Given the description of an element on the screen output the (x, y) to click on. 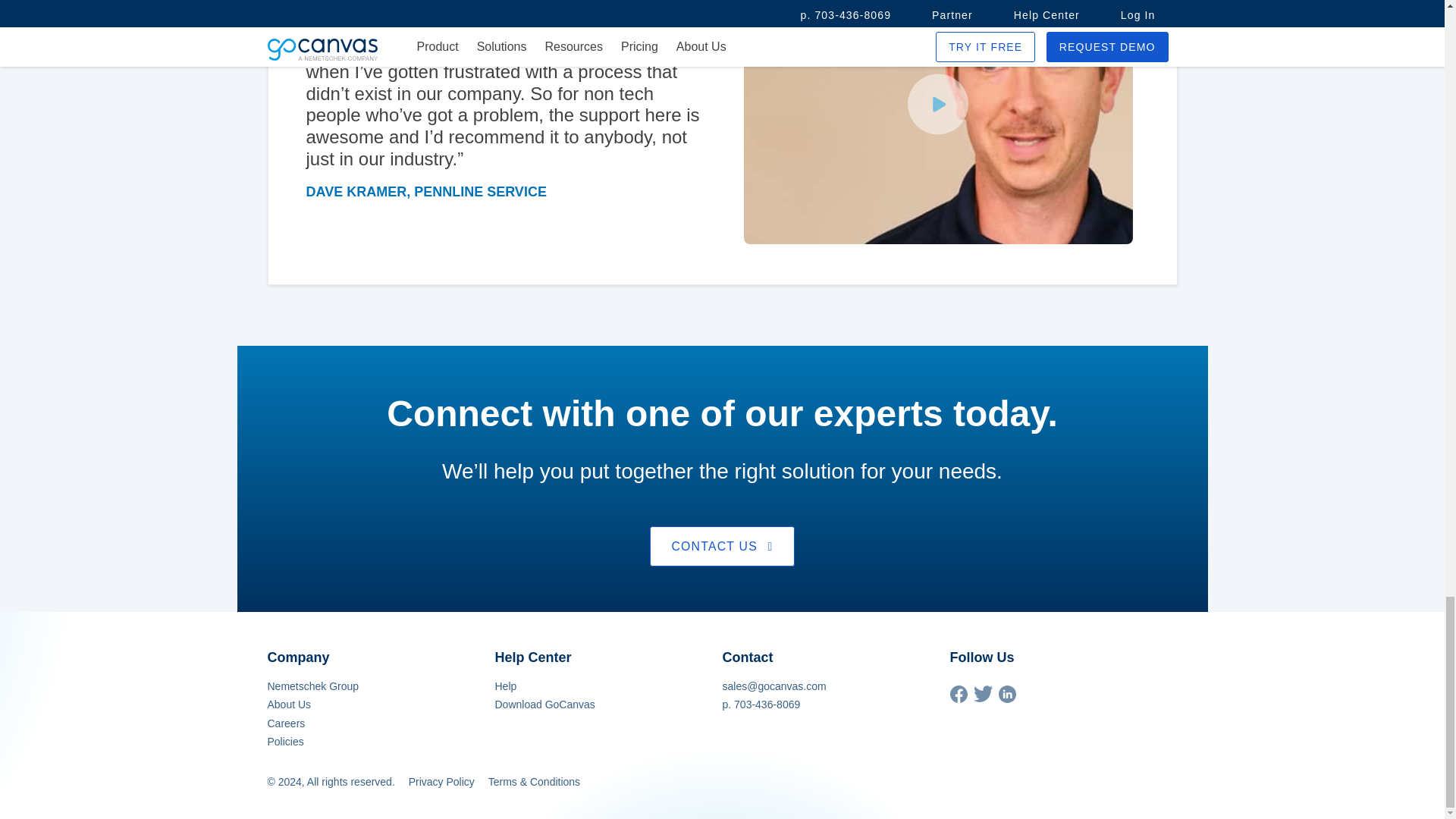
GoCanvas Twitter (982, 698)
GoCanvas Facebook (957, 698)
GoCanvas LinkedIn (1005, 698)
